Given the description of an element on the screen output the (x, y) to click on. 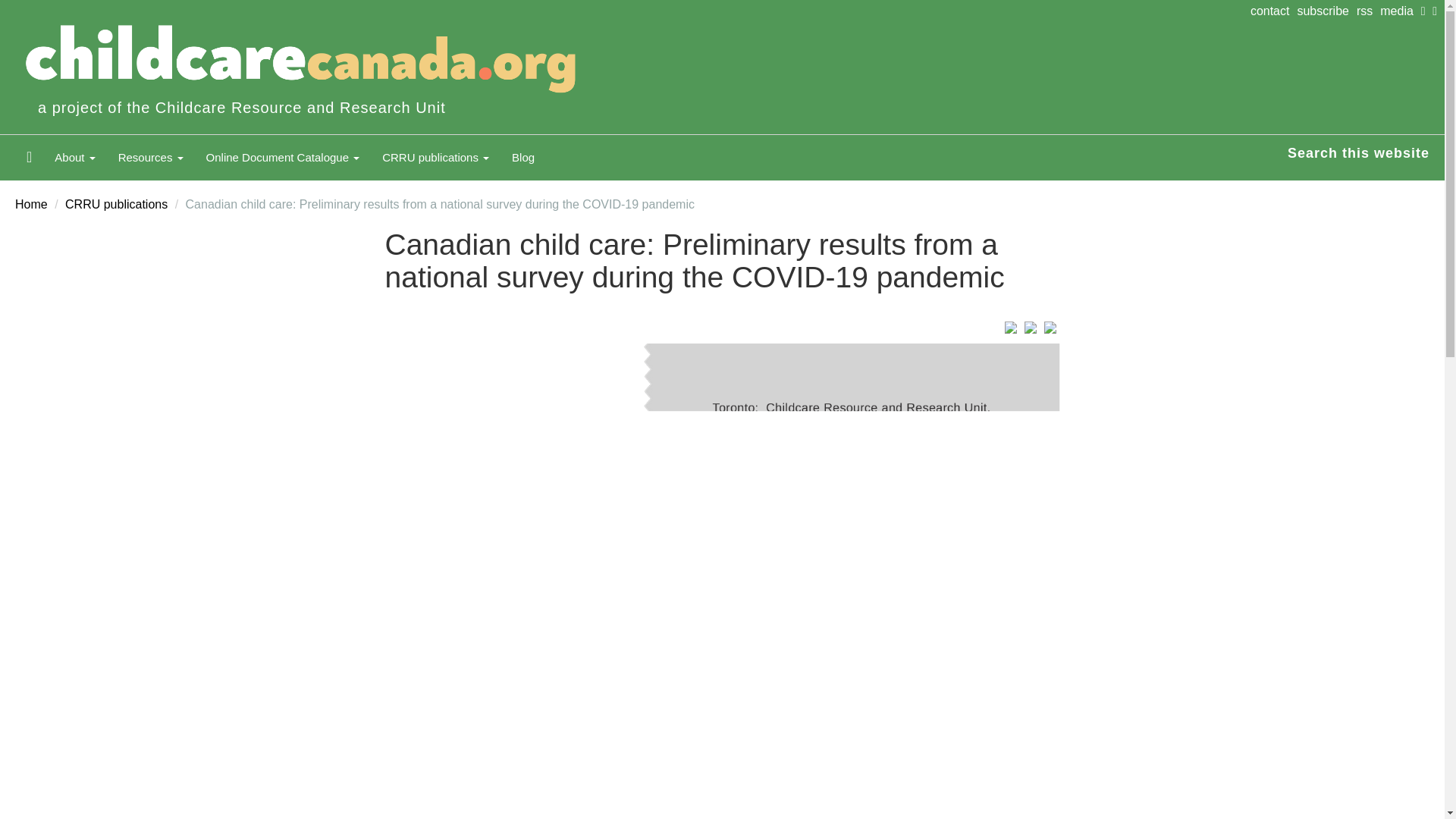
media (1400, 11)
Subscribe to CRRU rss feeds (1368, 11)
CRRU publications (435, 157)
Resources for media, including media releases (1400, 11)
Contact the Childcare Resource and Research Unit (1273, 11)
Link to email newsletter subscription form. (1326, 11)
Browse key CRRU resource areas (150, 157)
subscribe (1326, 11)
rss (1368, 11)
Resources (150, 157)
